Given the description of an element on the screen output the (x, y) to click on. 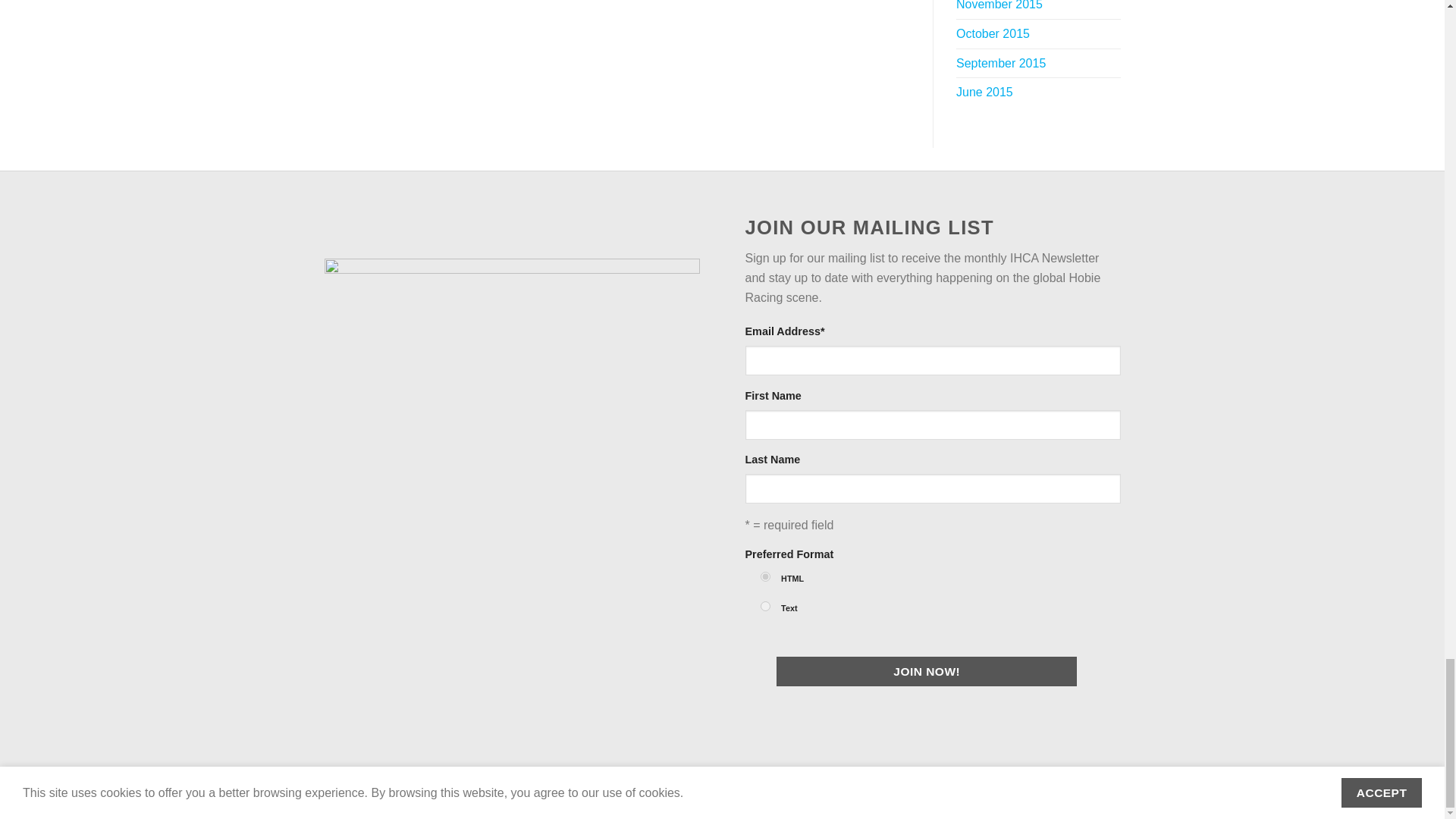
html (765, 576)
text (765, 605)
Join Now! (926, 671)
